Given the description of an element on the screen output the (x, y) to click on. 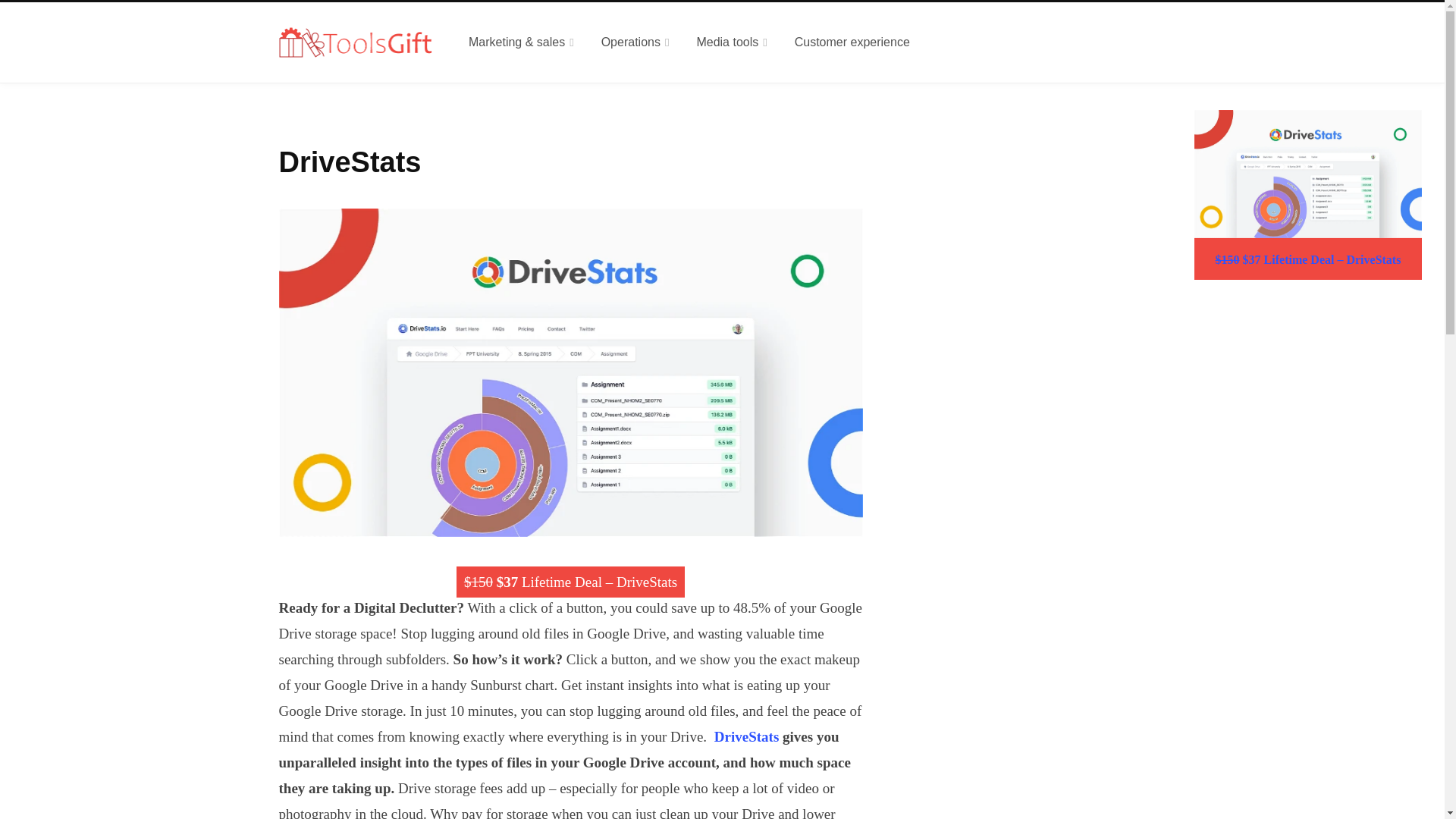
Customer experience (851, 41)
DriveStats (746, 736)
Media tools (731, 41)
Tools Gift (355, 42)
Operations (635, 41)
